Given the description of an element on the screen output the (x, y) to click on. 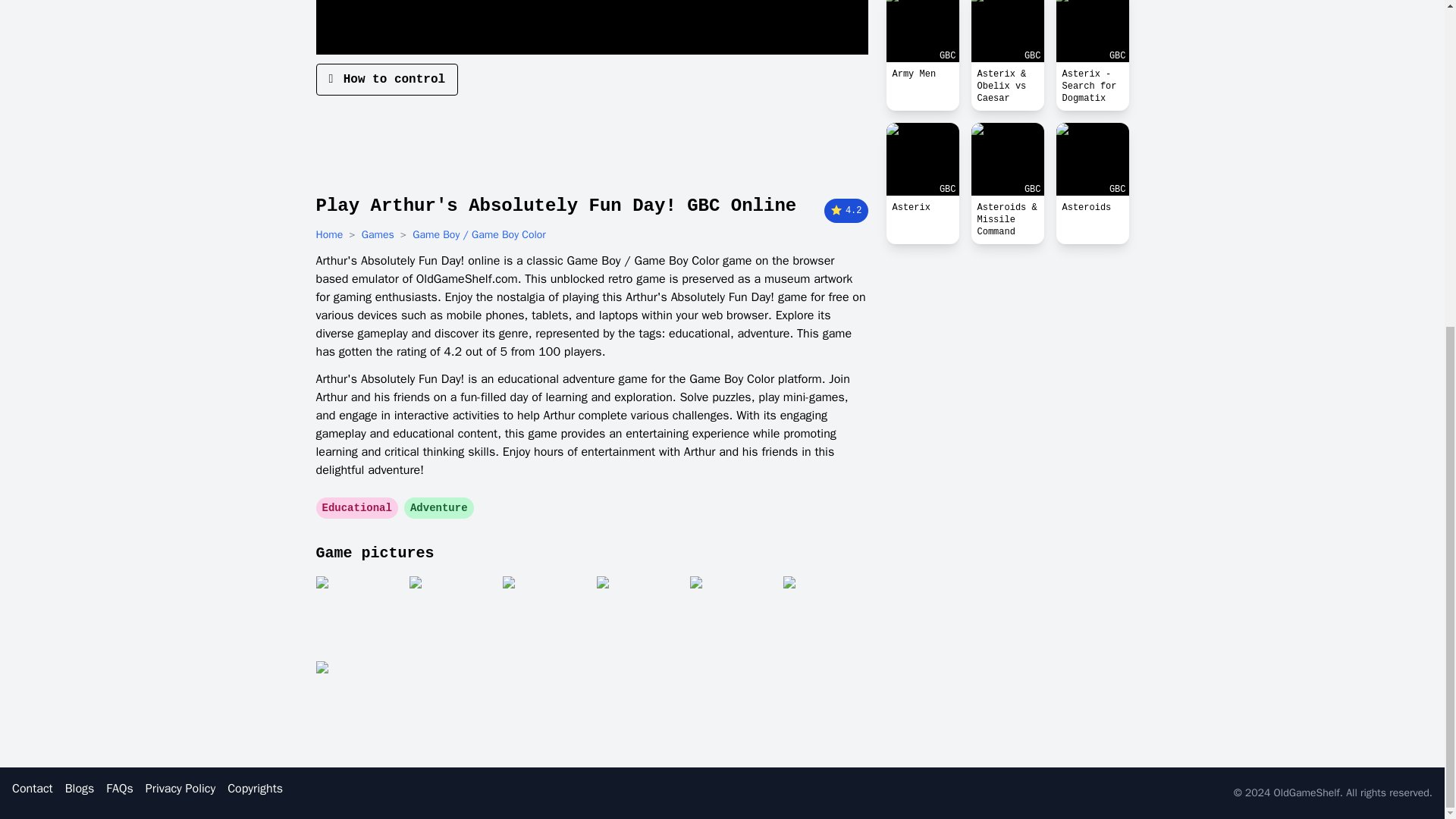
Educational (356, 508)
Asteroids (1091, 207)
Arthur's Absolutely Fun Day! game screenshot 1 (356, 613)
GBC (1007, 31)
Arthur's Absolutely Fun Day! game screenshot 4 (637, 613)
FAQs (119, 788)
Privacy Policy (180, 788)
Adventure (439, 508)
Blogs (79, 788)
Home (328, 234)
